Given the description of an element on the screen output the (x, y) to click on. 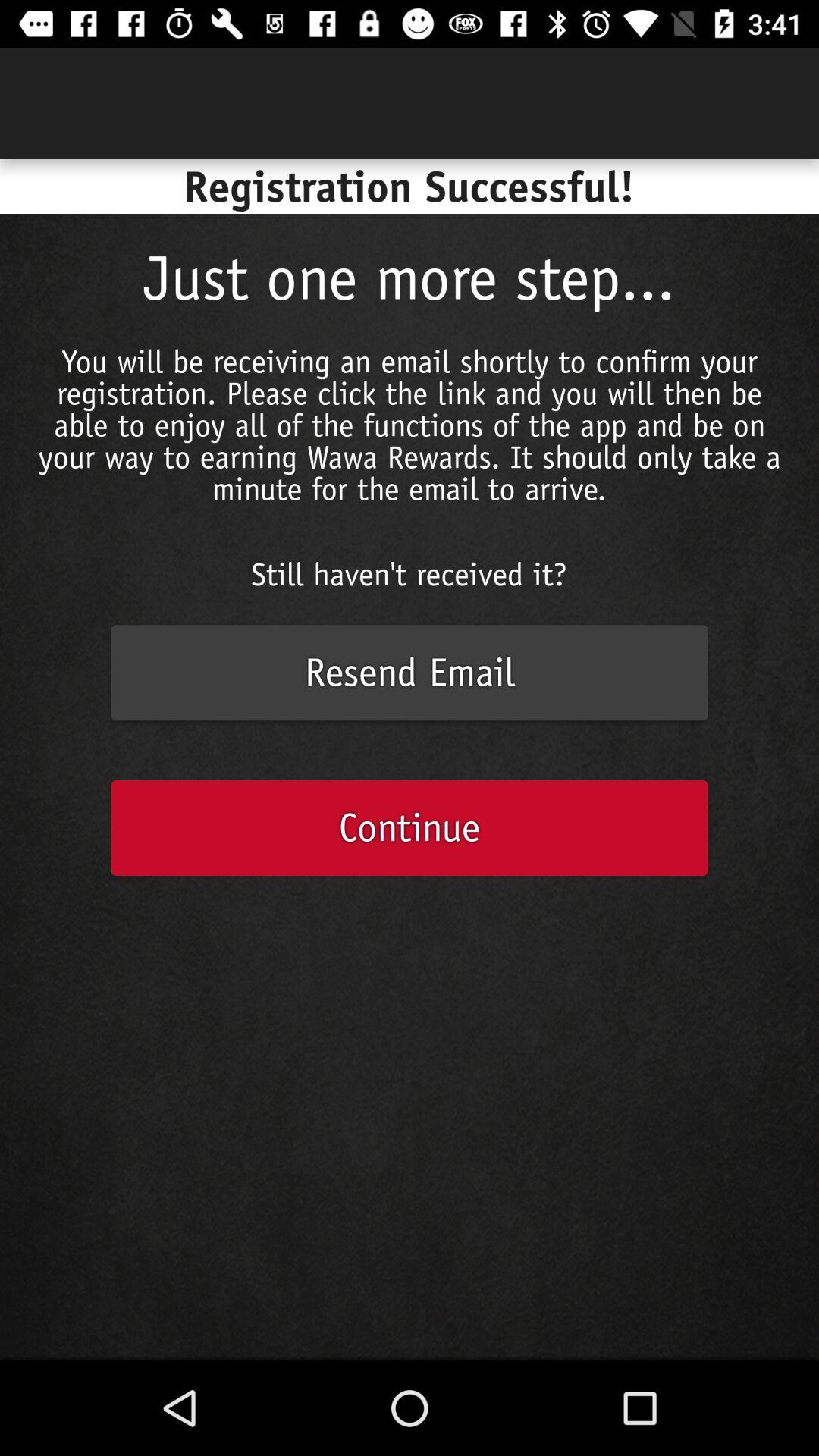
click the continue item (409, 827)
